Given the description of an element on the screen output the (x, y) to click on. 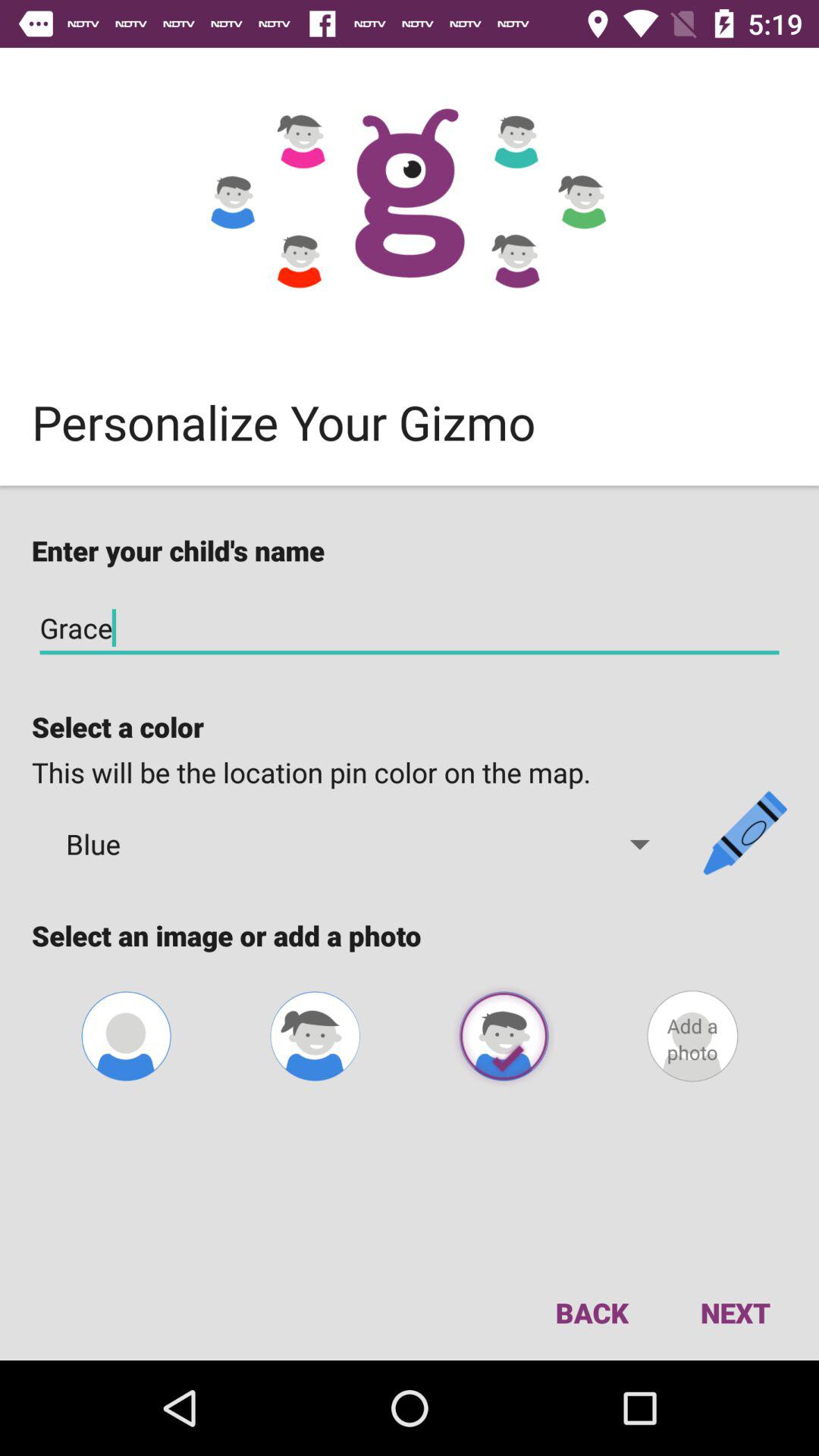
select profile image (503, 1036)
